Given the description of an element on the screen output the (x, y) to click on. 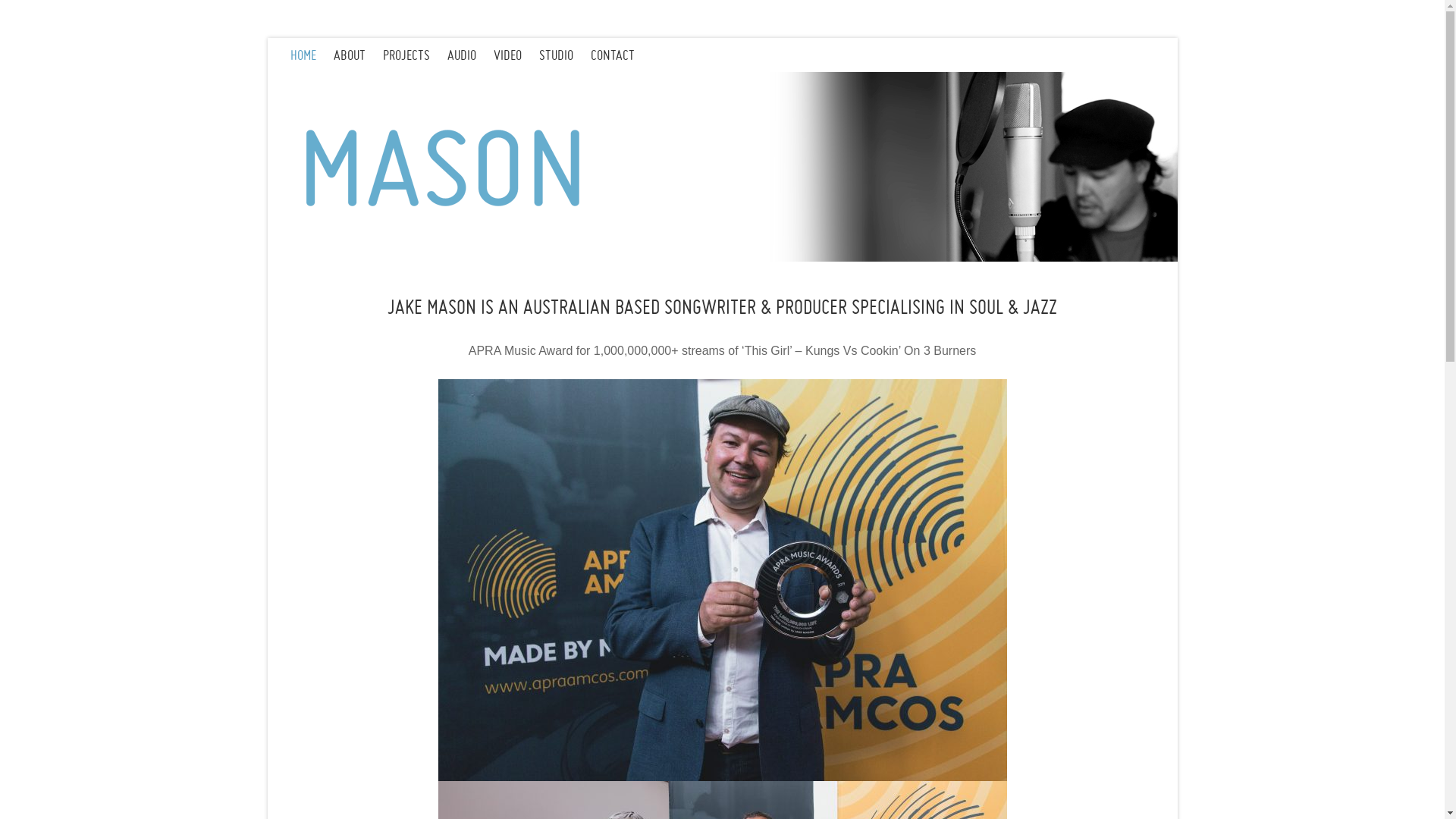
HOME Element type: text (310, 54)
STUDIO Element type: text (563, 54)
AUDIO Element type: text (470, 54)
PROJECTS Element type: text (414, 54)
CONTACT Element type: text (620, 54)
VIDEO Element type: text (515, 54)
ABOUT Element type: text (357, 54)
